Given the description of an element on the screen output the (x, y) to click on. 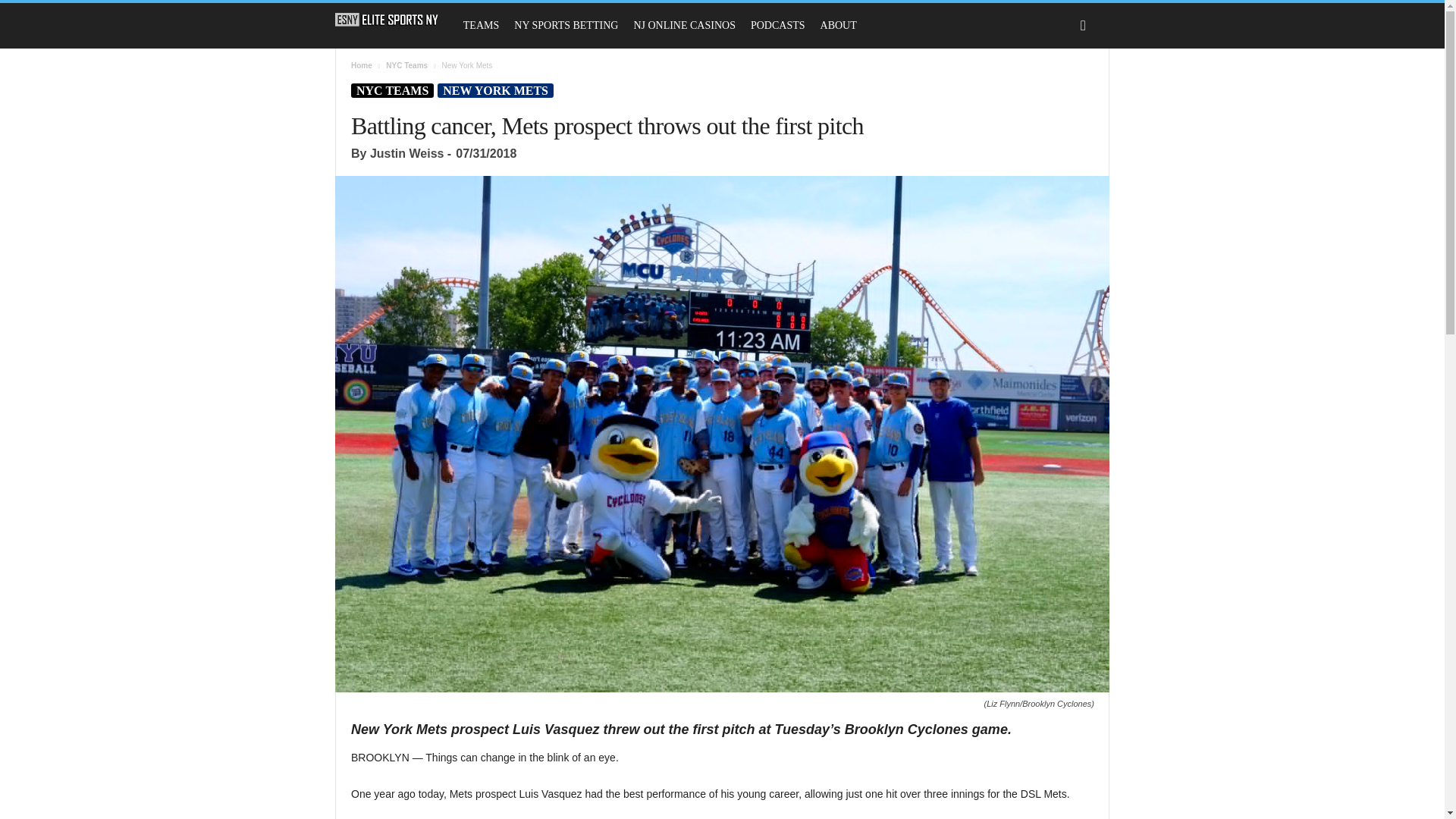
TEAMS (480, 25)
View all posts in NYC Teams (406, 65)
Elite Sports NY (386, 19)
Elite Sports NY (394, 19)
